Given the description of an element on the screen output the (x, y) to click on. 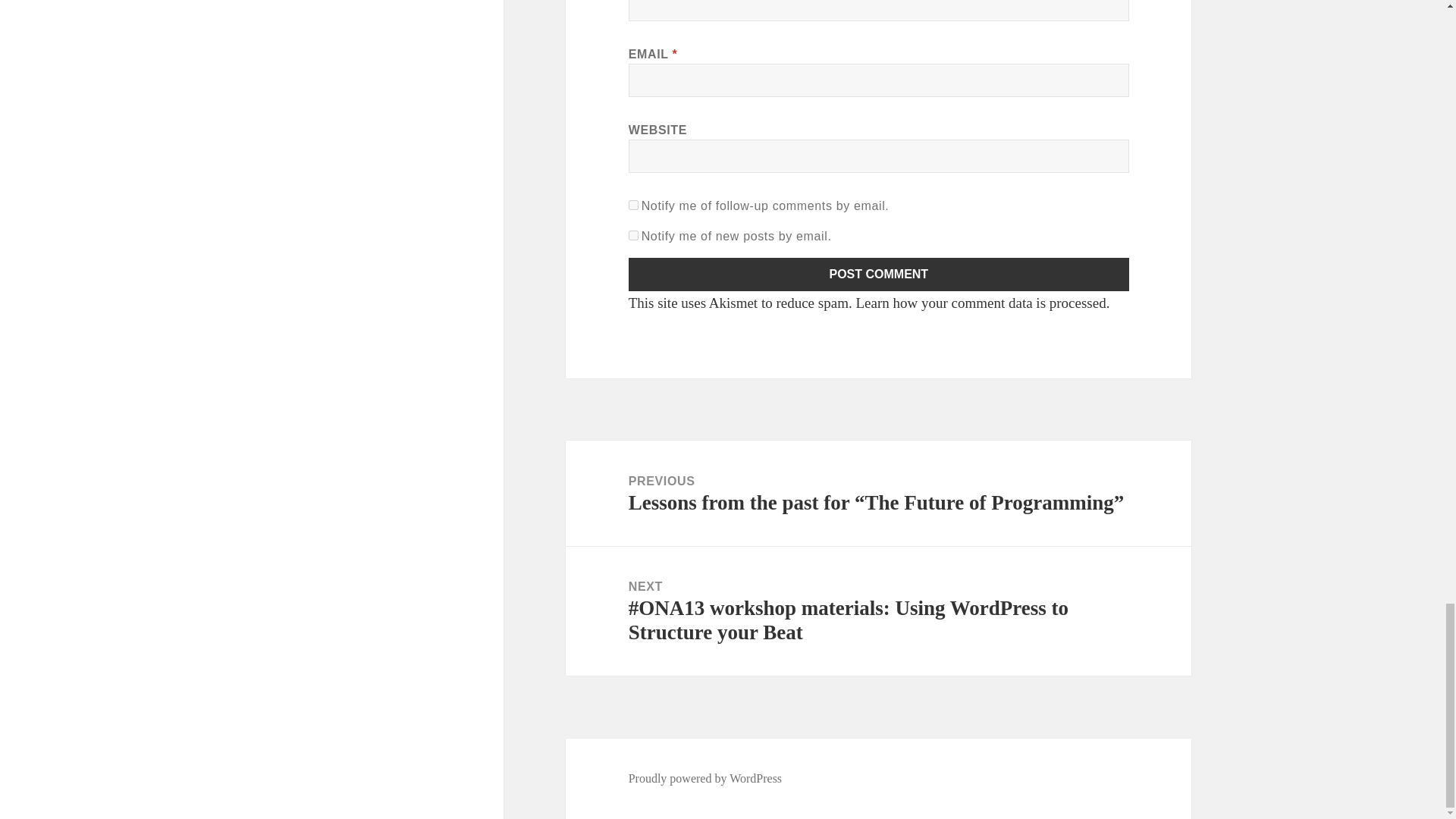
Post Comment (878, 274)
Post Comment (878, 274)
Learn how your comment data is processed (980, 302)
subscribe (633, 204)
subscribe (633, 235)
